Given the description of an element on the screen output the (x, y) to click on. 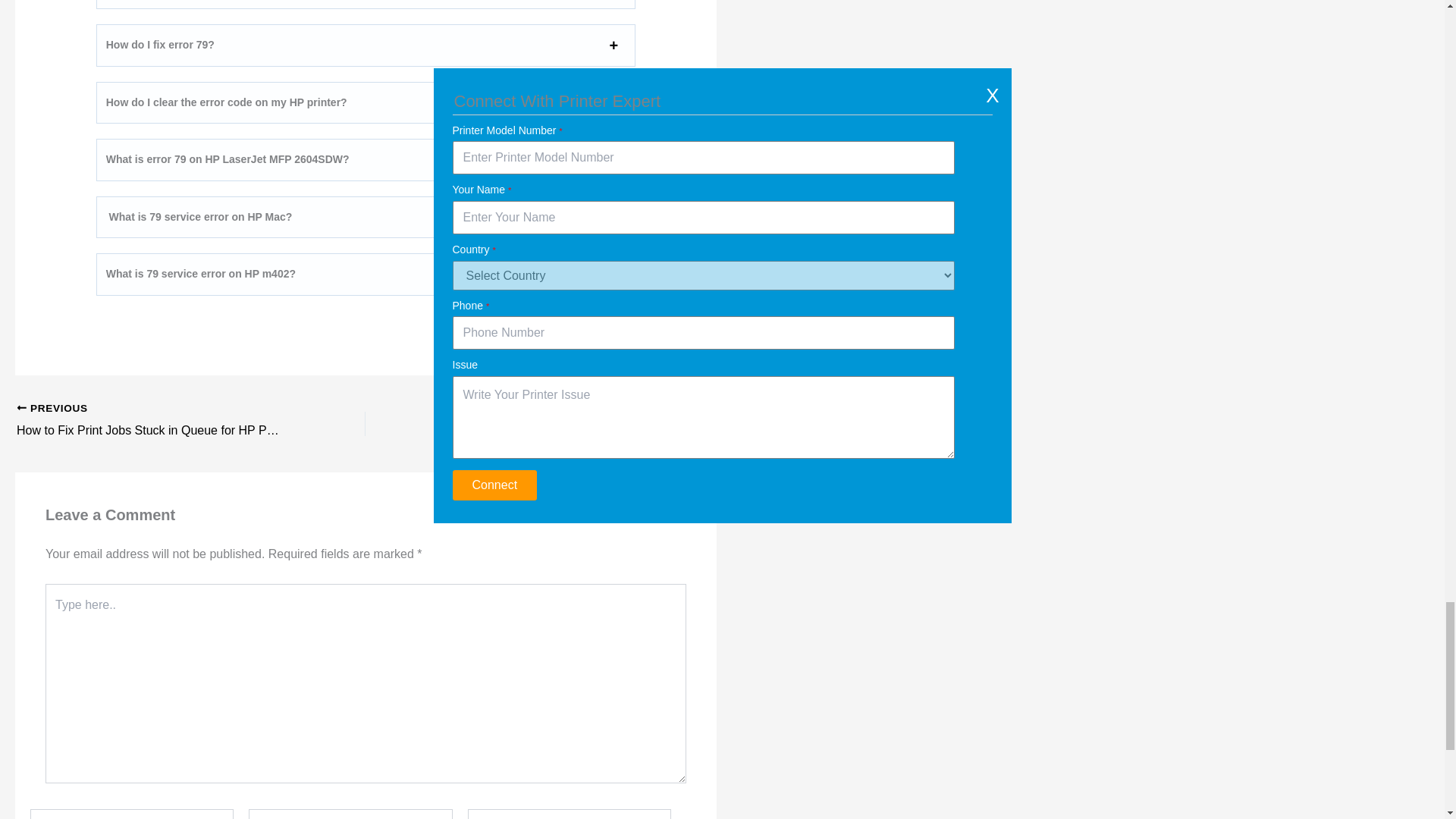
How do I clear the error code on my HP printer? (226, 102)
What is error 79 on HP LaserJet MFP 2604SDW? (227, 159)
How to Connect HP DeskJet 2700 to WiFi: A Complete Guide (573, 420)
How do I fix error 79? (160, 45)
What is 79 service error on HP m402? (200, 273)
How to Fix Print Jobs Stuck in Queue for HP Printers (156, 420)
 What is 79 service error on HP Mac? (199, 217)
